Given the description of an element on the screen output the (x, y) to click on. 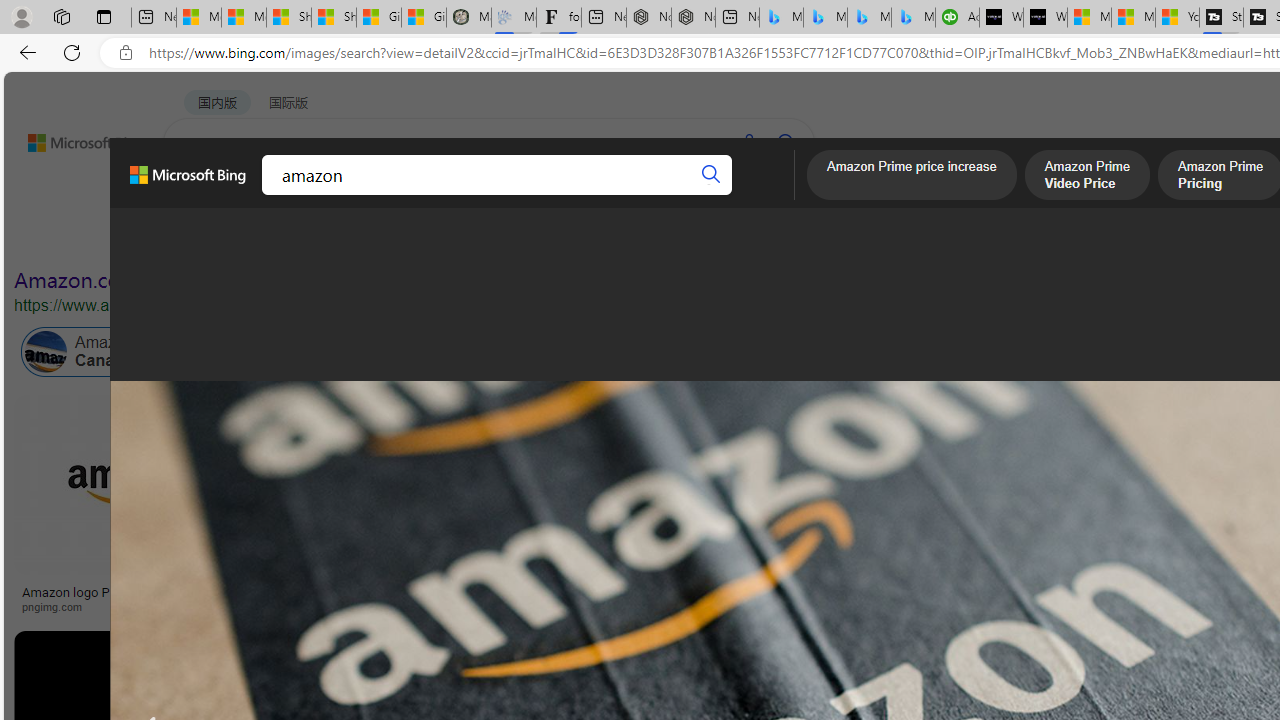
Shanghai, China weather forecast | Microsoft Weather (333, 17)
Image result for amazon (982, 485)
MORE (779, 195)
IMAGES (274, 195)
Gilma and Hector both pose tropical trouble for Hawaii (423, 17)
Amazon Canada Online (45, 351)
MAPS (698, 195)
Streaming Coverage | T3 (1220, 17)
Microsoft Bing, Back to Bing search (188, 183)
Microsoft Start Sports (1089, 17)
Amazon.com. Spend less. Smile more. (195, 280)
